Given the description of an element on the screen output the (x, y) to click on. 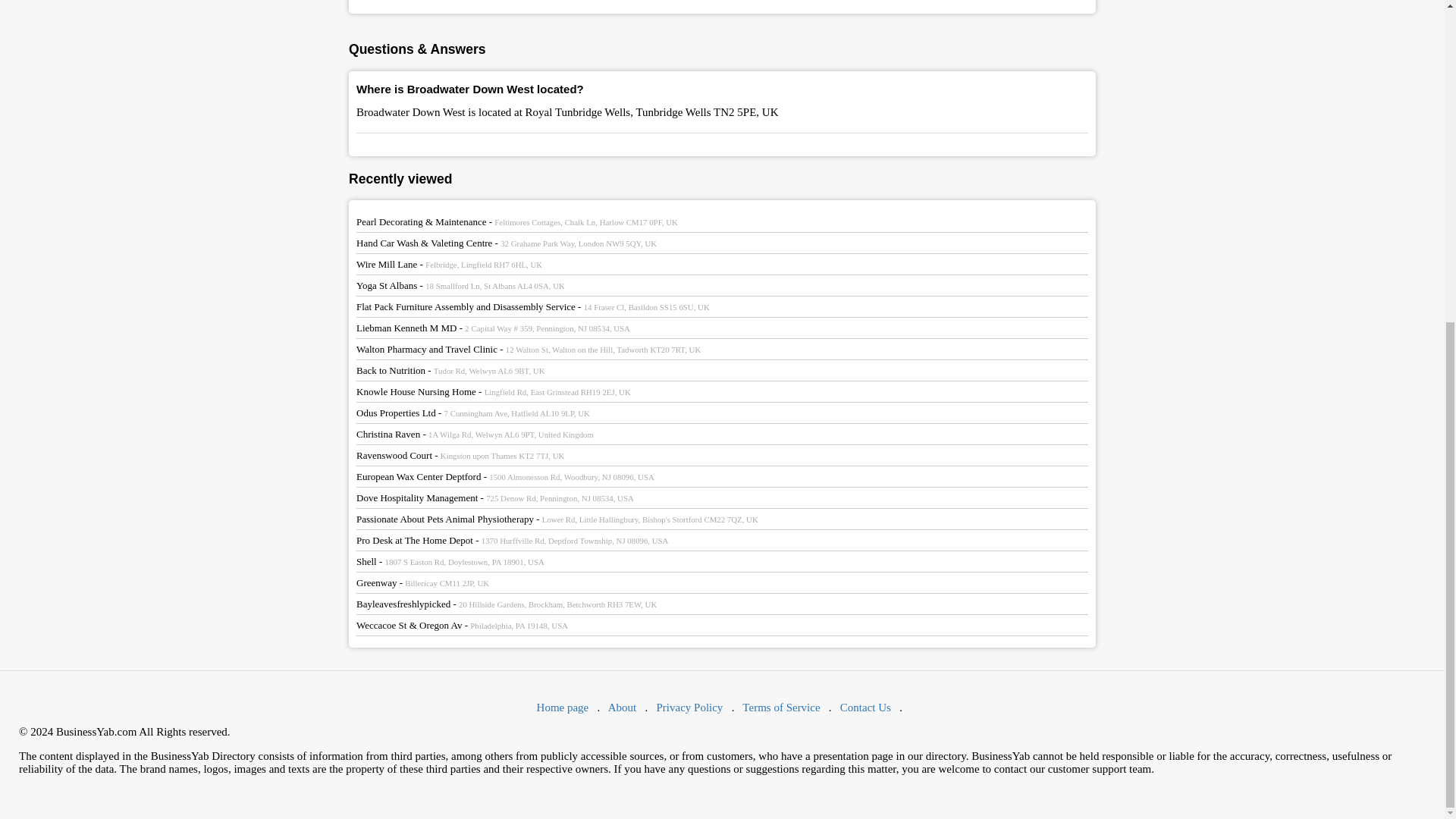
About (622, 707)
Back to Nutrition - Tudor Rd, Welwyn AL6 9BT, UK (450, 369)
Greenway - Billericay CM11 2JP, UK (422, 582)
Privacy Policy (689, 707)
Shell - 1807 S Easton Rd, Doylestown, PA 18901, USA (450, 561)
Contact Us (865, 707)
Yoga St Albans - 18 Smallford Ln, St Albans AL4 0SA, UK (460, 285)
